Given the description of an element on the screen output the (x, y) to click on. 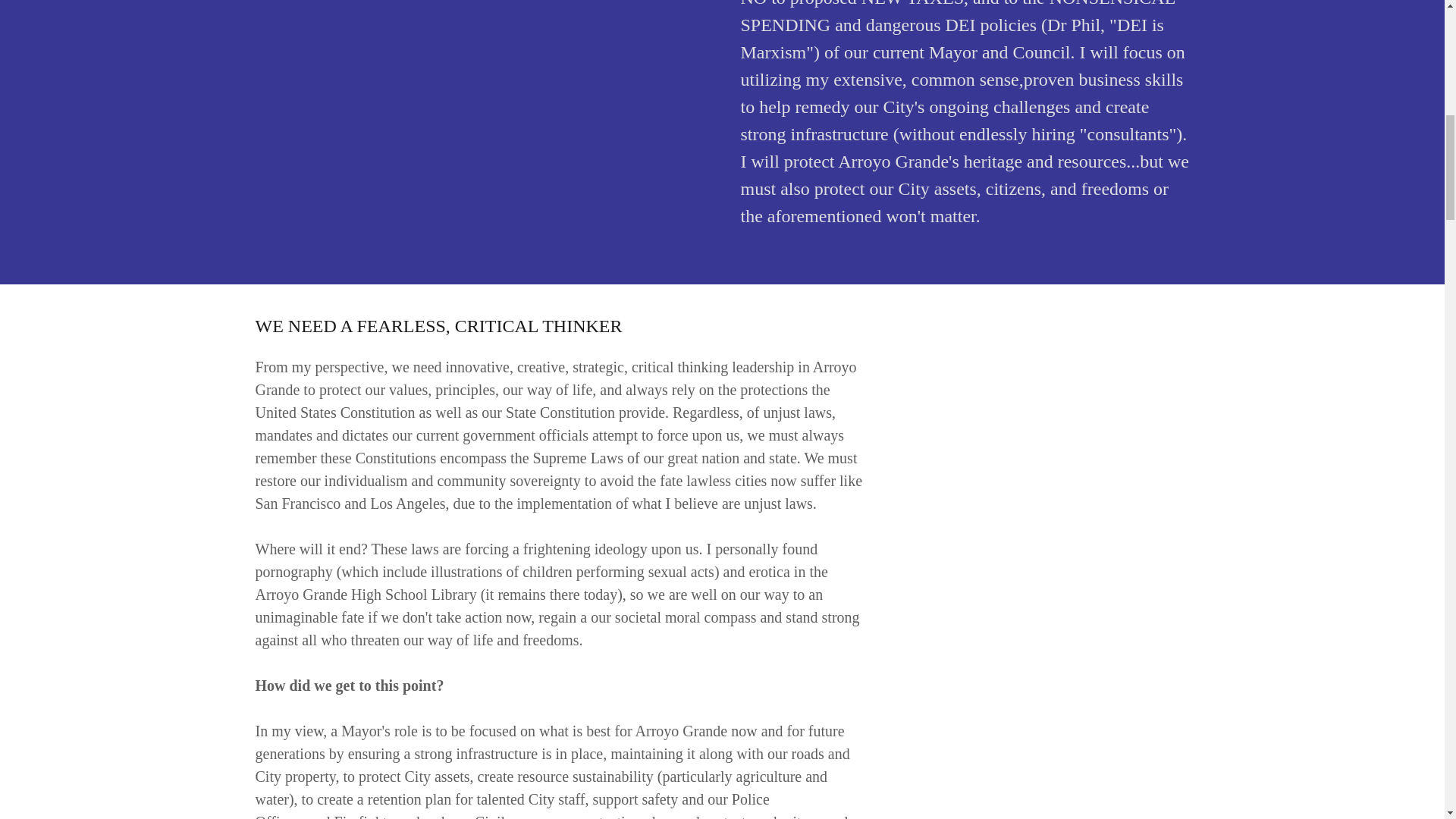
Accept (1274, 324)
